Given the description of an element on the screen output the (x, y) to click on. 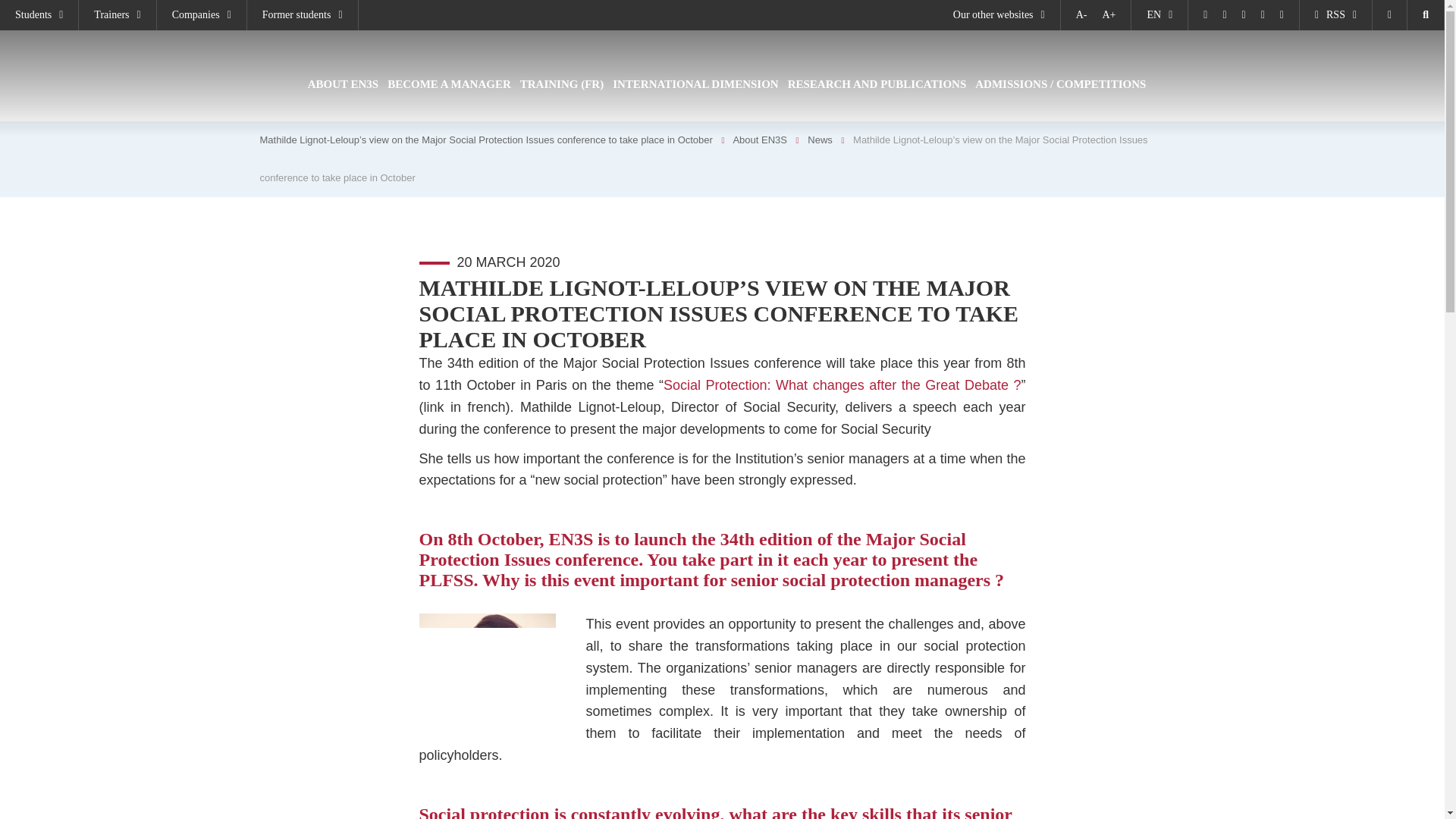
Contact us for more information (1390, 15)
RSS (1335, 15)
Former students (302, 15)
Increase the font size (1108, 15)
EN (1159, 15)
Trainers (116, 15)
Our other websites (1006, 15)
Students (39, 15)
ABOUT EN3S (342, 95)
Companies (201, 15)
